Given the description of an element on the screen output the (x, y) to click on. 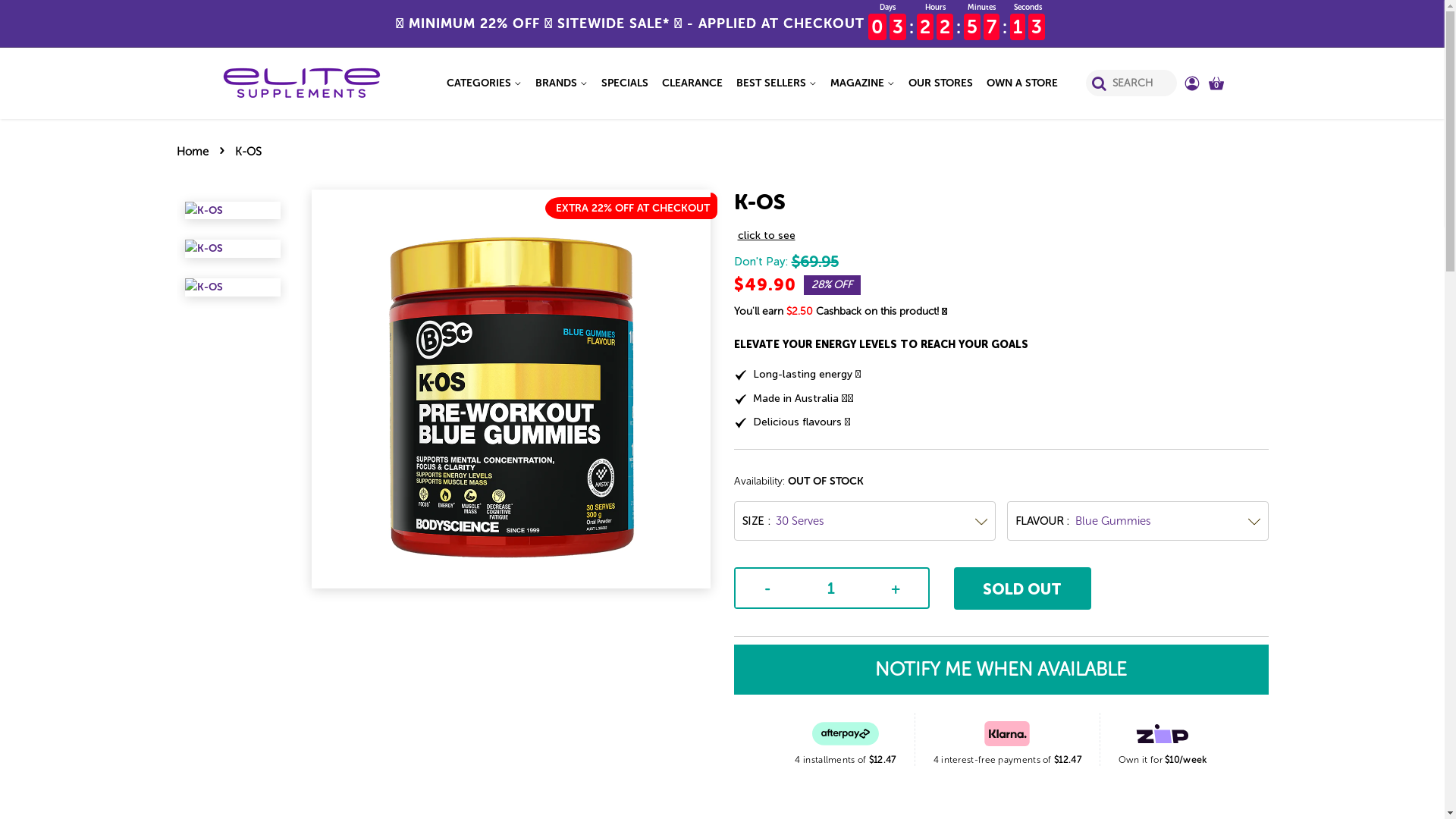
OWN A STORE Element type: text (1019, 83)
Own it for $10/week Element type: text (1162, 738)
CATEGORIES Element type: text (486, 83)
BRANDS Element type: text (561, 83)
checkout Element type: text (42, 16)
MAGAZINE Element type: text (862, 83)
NOTIFY ME WHEN AVAILABLE Element type: text (1001, 669)
BEST SELLERS Element type: text (776, 83)
SOLD OUT Element type: text (1022, 588)
4 installments of $12.47 Element type: text (844, 738)
OUR STORES Element type: text (940, 83)
SPECIALS Element type: text (624, 83)
Home Element type: text (193, 151)
4 interest-free payments of $12.47 Element type: text (1007, 738)
CLEARANCE Element type: text (692, 83)
